Given the description of an element on the screen output the (x, y) to click on. 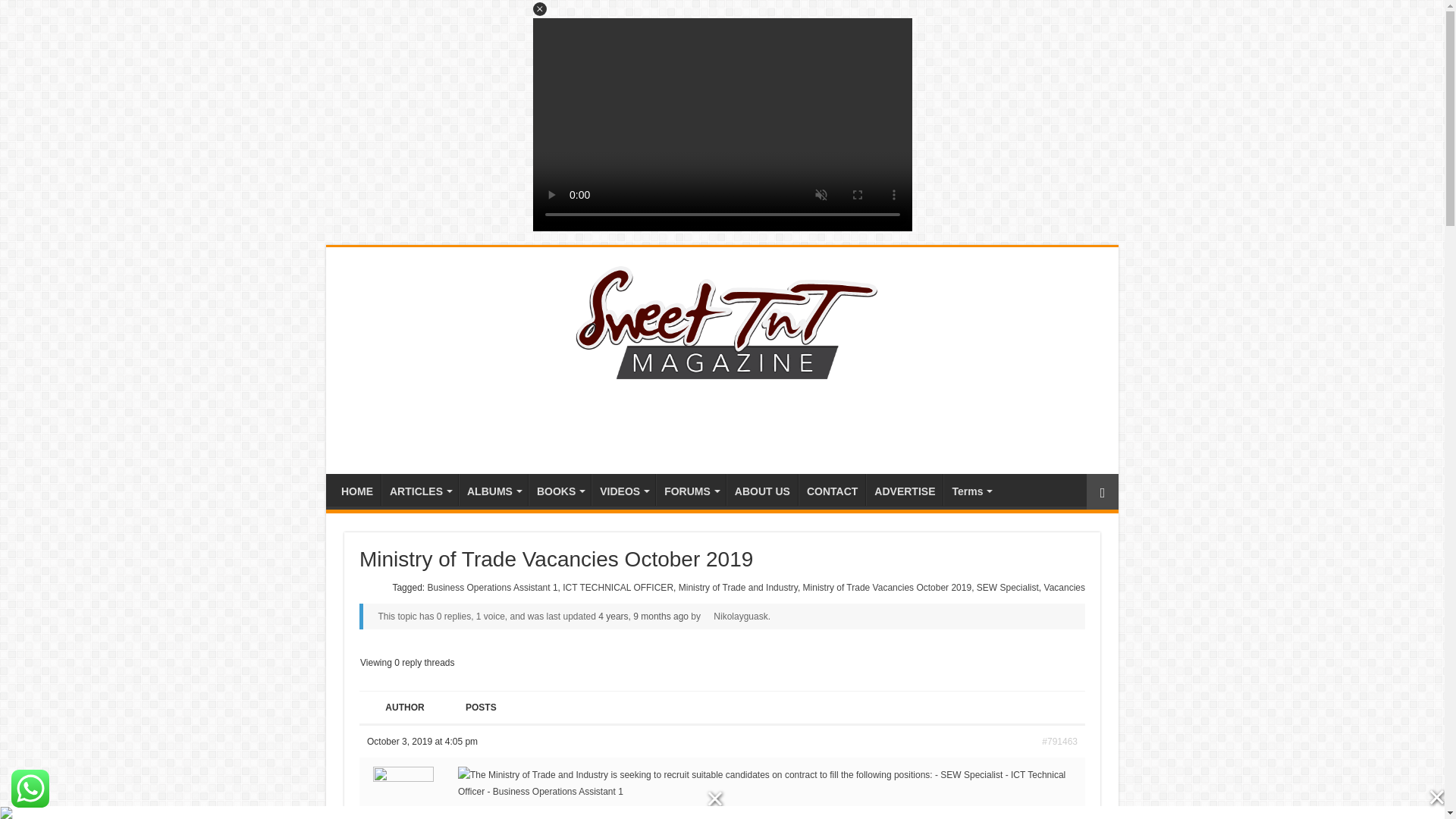
Ministry of Trade Vacancies October 2019 (643, 615)
Advertisement (721, 424)
Sweet TnT Magazine (721, 320)
